Given the description of an element on the screen output the (x, y) to click on. 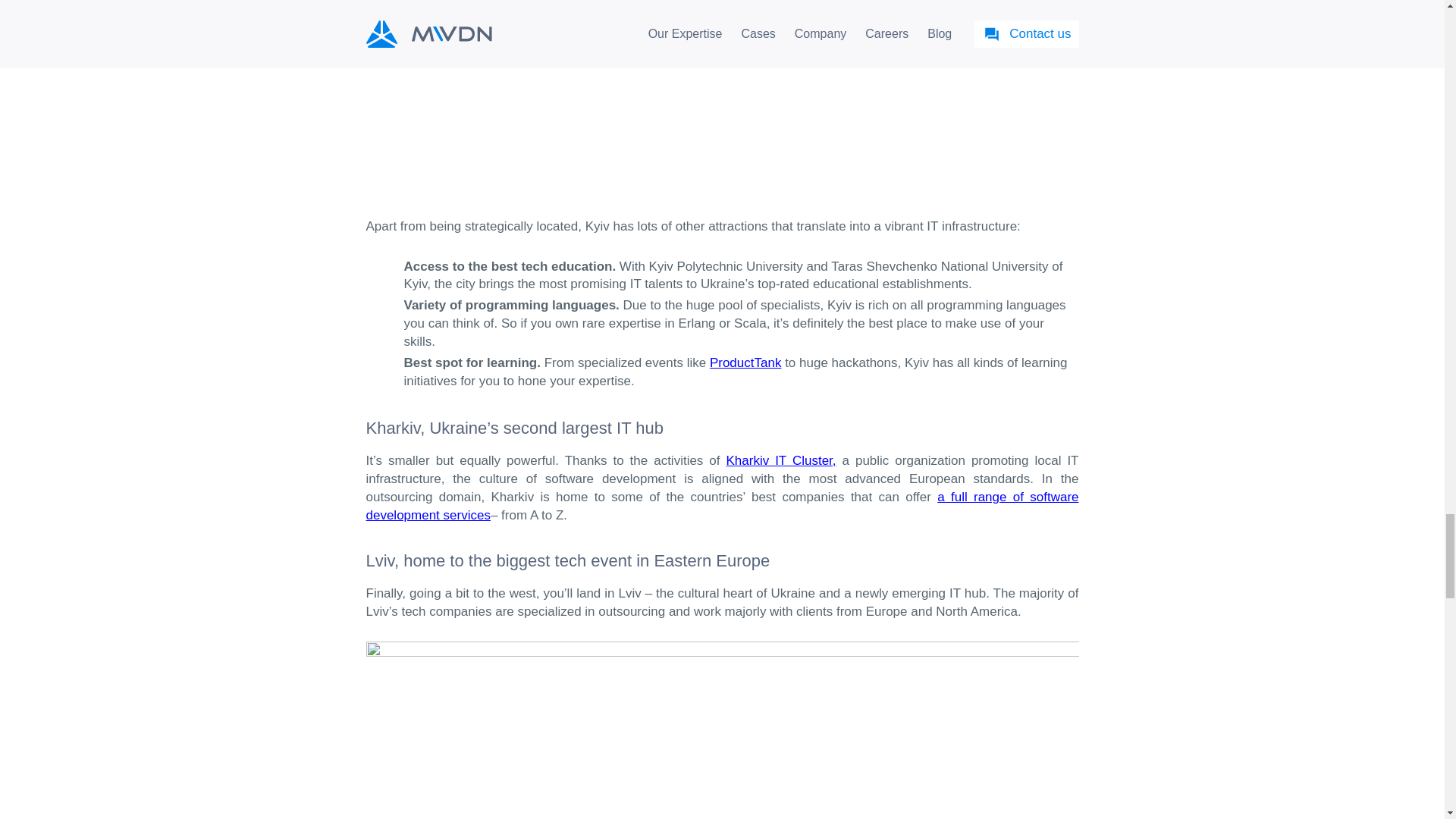
Kharkiv IT Cluster, (780, 460)
a full range of software development services (721, 505)
ProductTank (745, 362)
